Given the description of an element on the screen output the (x, y) to click on. 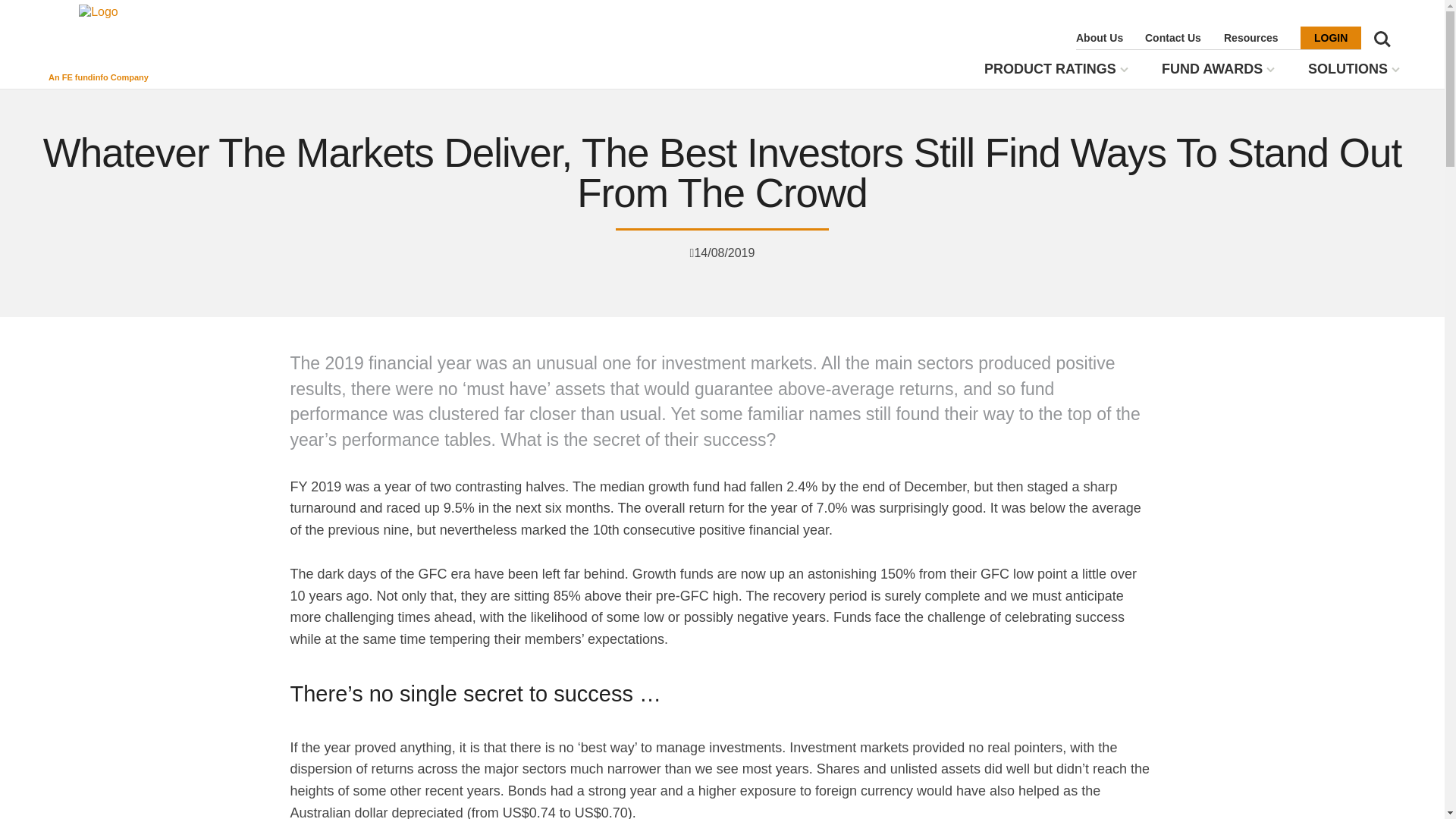
PRODUCT RATINGS (1050, 69)
SOLUTIONS (1347, 69)
FUND AWARDS (1211, 69)
Search (1382, 39)
Resources (1251, 37)
About Us (1098, 37)
Contact Us (1172, 37)
LOGIN (1330, 37)
